Given the description of an element on the screen output the (x, y) to click on. 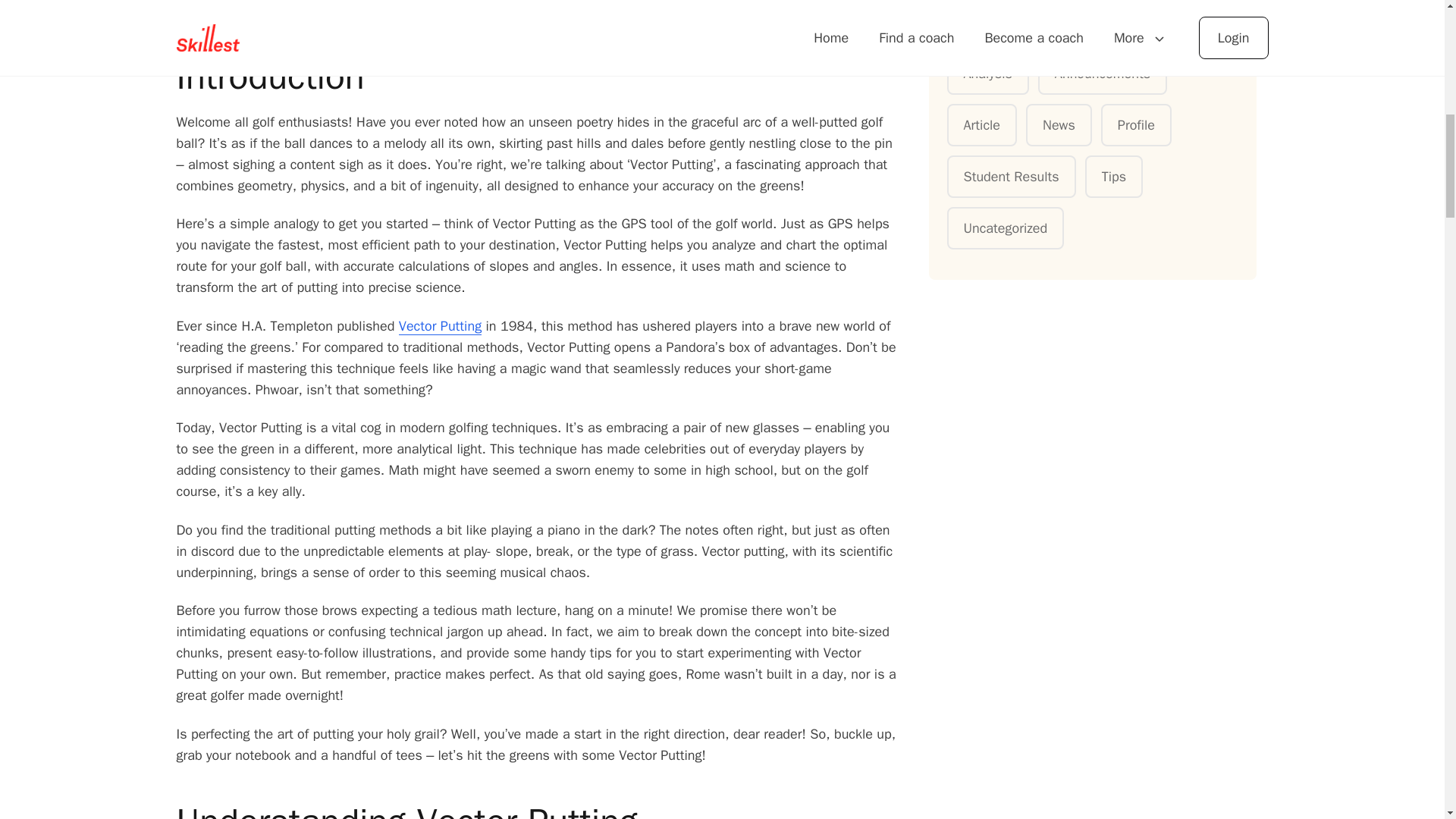
Vector Putting (439, 325)
